Given the description of an element on the screen output the (x, y) to click on. 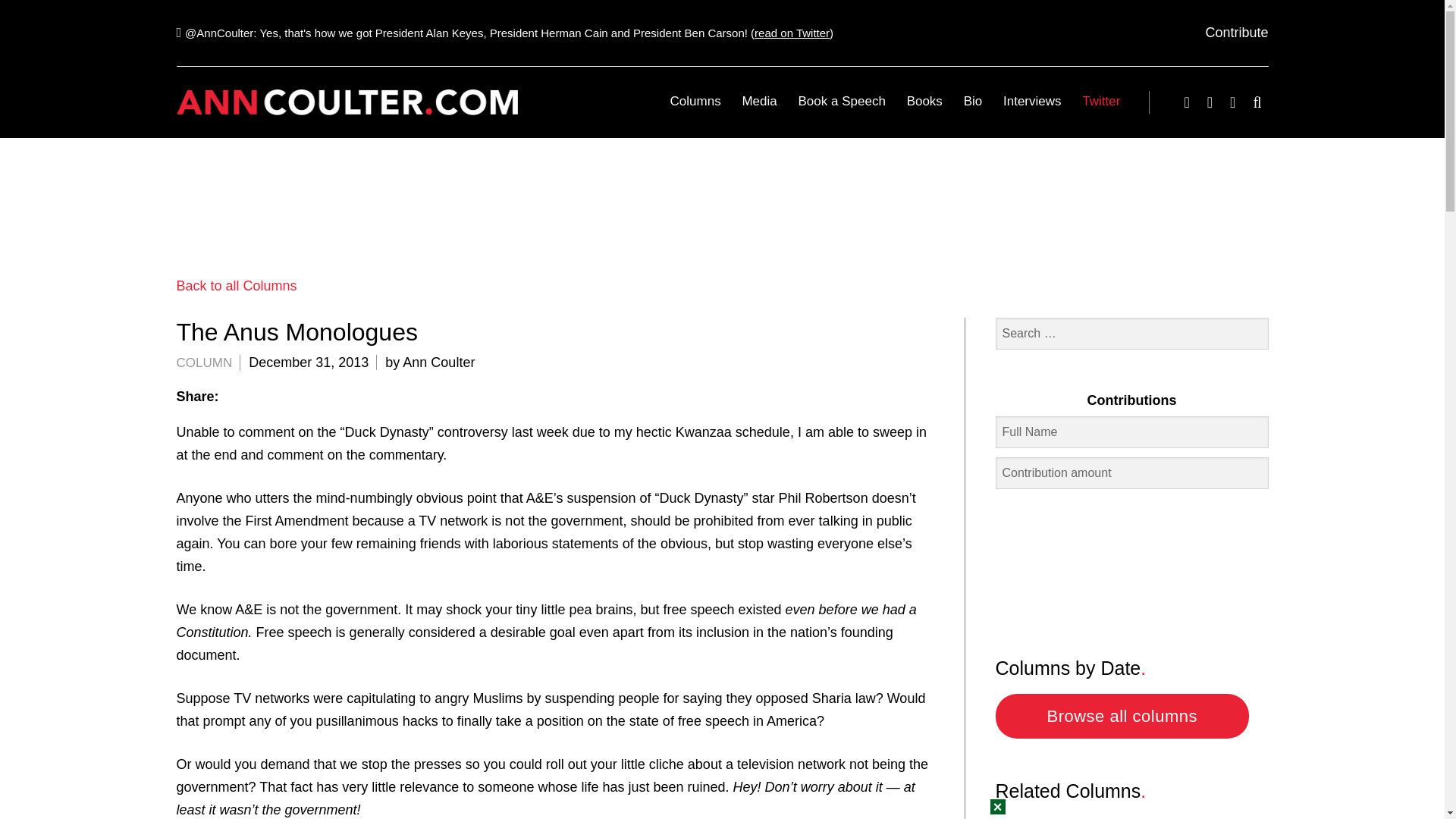
PayPal (1131, 559)
Columns (695, 101)
Bio (972, 101)
Search (79, 22)
Interviews (1031, 101)
read on Twitter (791, 32)
Books (924, 101)
COLUMN (203, 362)
Twitter (1096, 101)
Back to all Columns (236, 285)
